Given the description of an element on the screen output the (x, y) to click on. 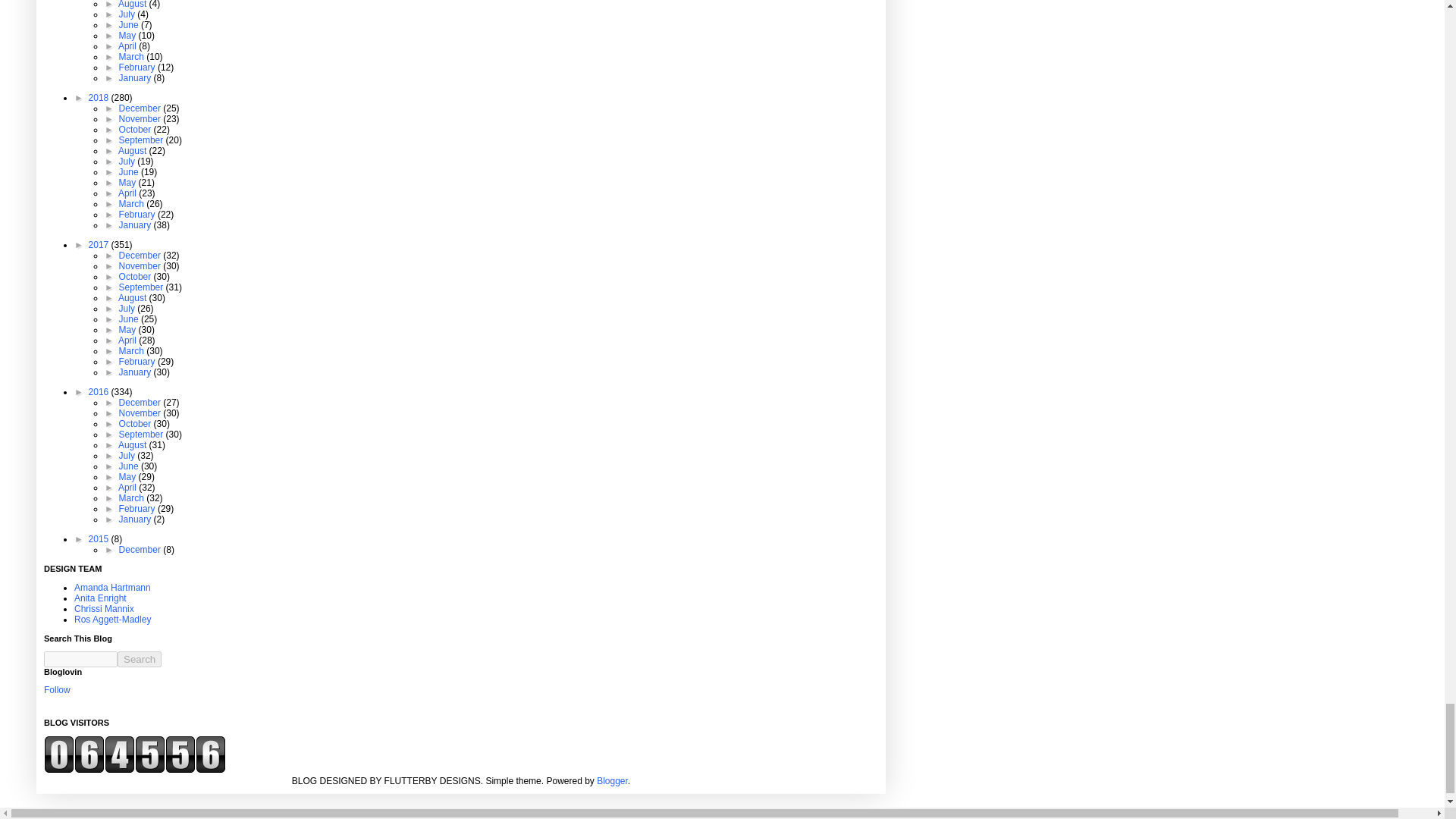
Search (139, 659)
search (80, 659)
free hit counter code (134, 754)
search (139, 659)
Search (139, 659)
free hit counter code (134, 769)
